Given the description of an element on the screen output the (x, y) to click on. 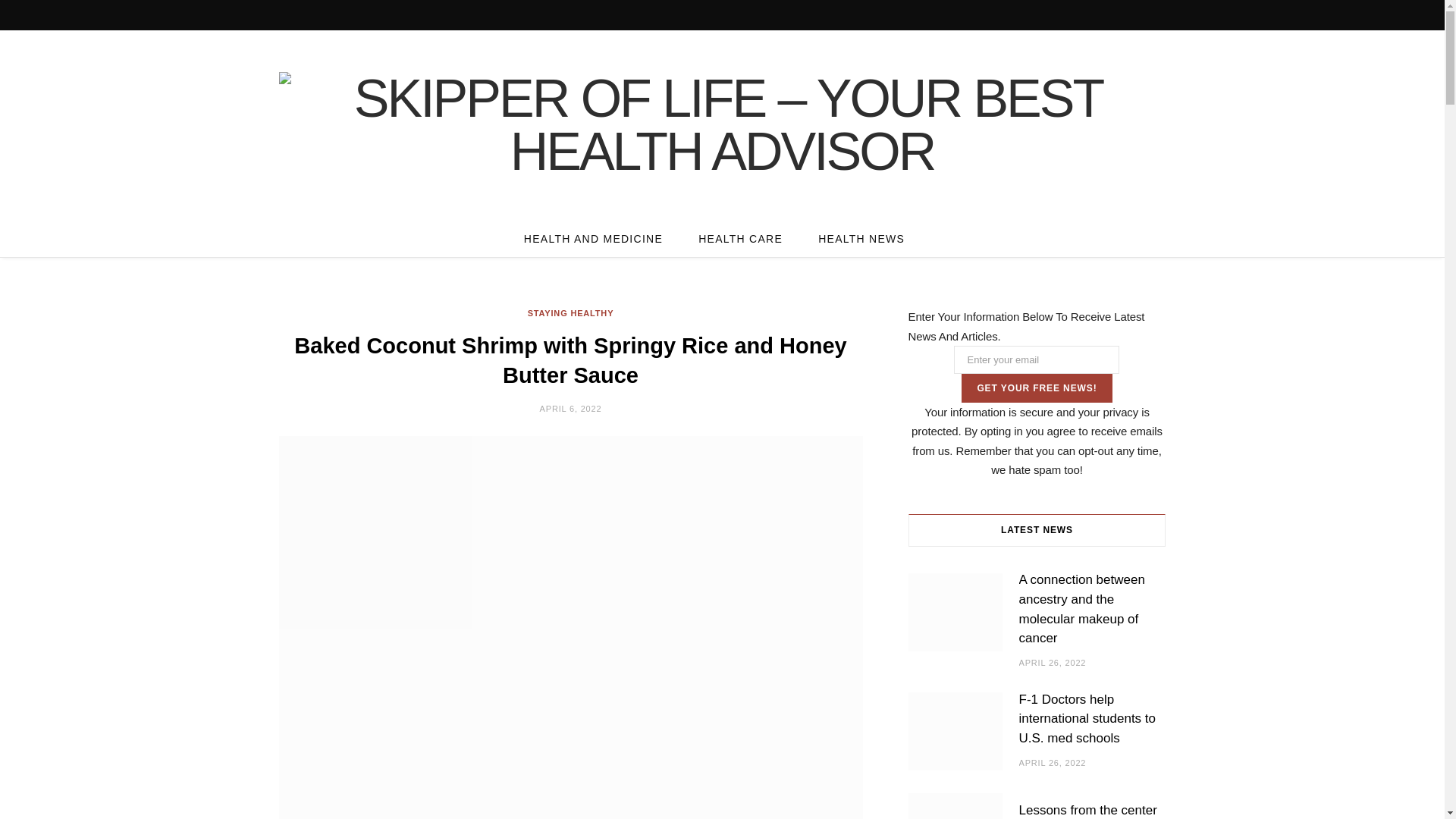
HEALTH NEWS (861, 238)
Enter your email (1036, 359)
Get Your Free News! (1036, 387)
HEALTH CARE (739, 238)
STAYING HEALTHY (570, 313)
HEALTH AND MEDICINE (593, 238)
APRIL 6, 2022 (571, 408)
Get Your Free News! (1036, 387)
